Given the description of an element on the screen output the (x, y) to click on. 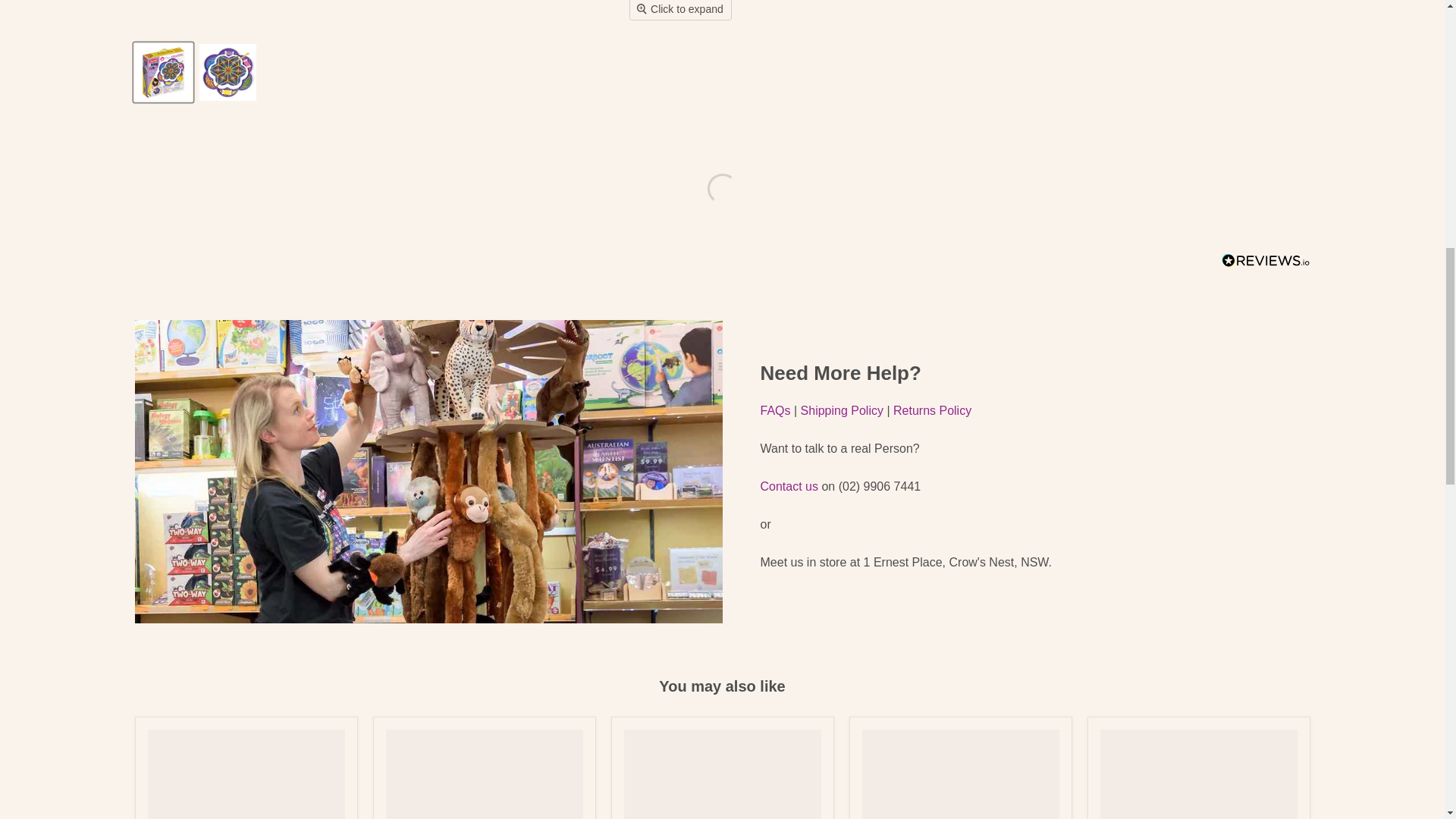
Contact Us (788, 486)
Return Guarantee (932, 410)
FAQS (775, 410)
Shipping Policy (841, 410)
